Given the description of an element on the screen output the (x, y) to click on. 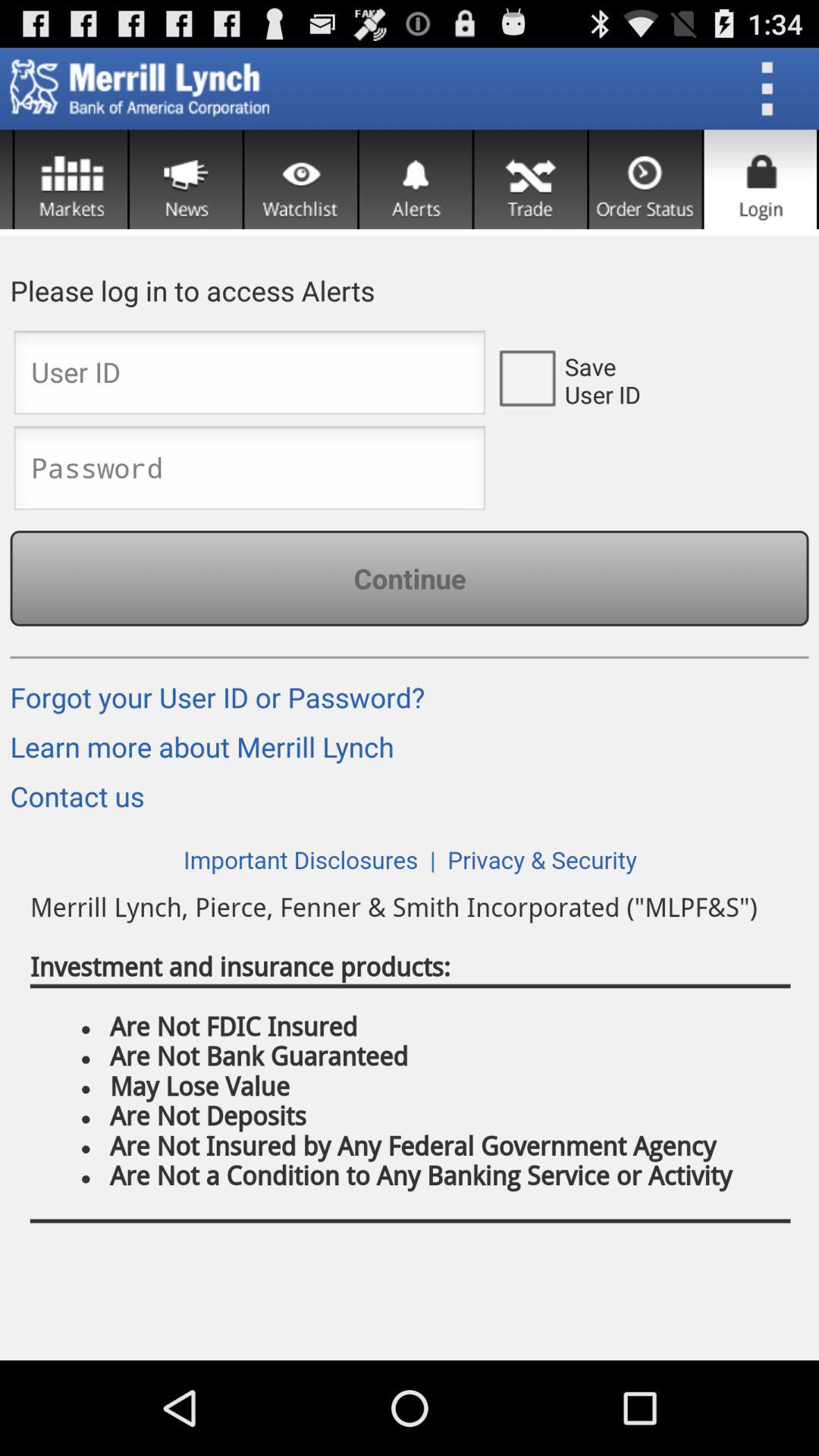
save login check box (526, 376)
